Given the description of an element on the screen output the (x, y) to click on. 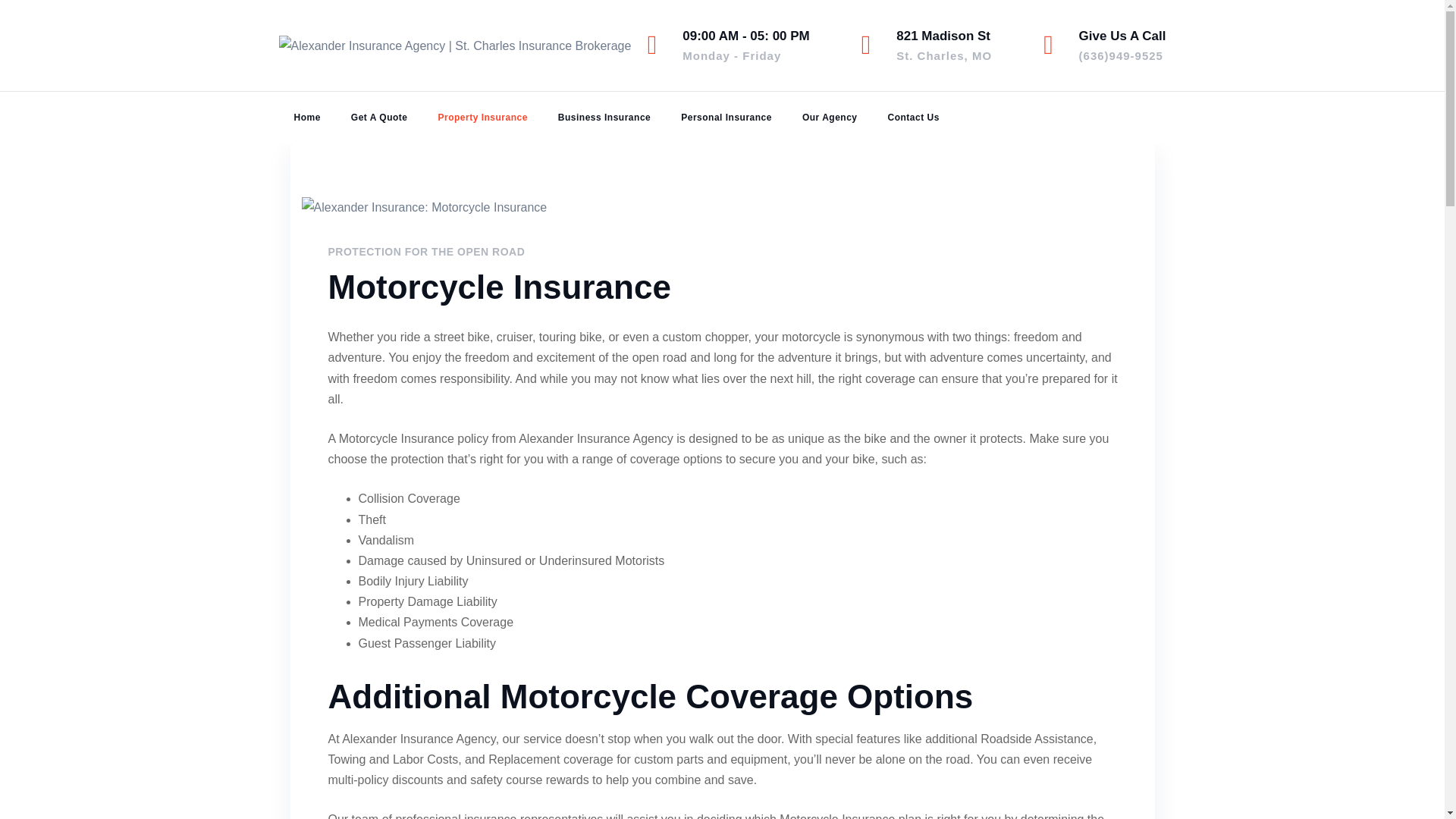
Business Insurance (603, 117)
Contact Us (913, 117)
Property Insurance (745, 45)
Our Agency (482, 117)
Personal Insurance (829, 117)
Get A Quote (726, 117)
Home (943, 45)
